Given the description of an element on the screen output the (x, y) to click on. 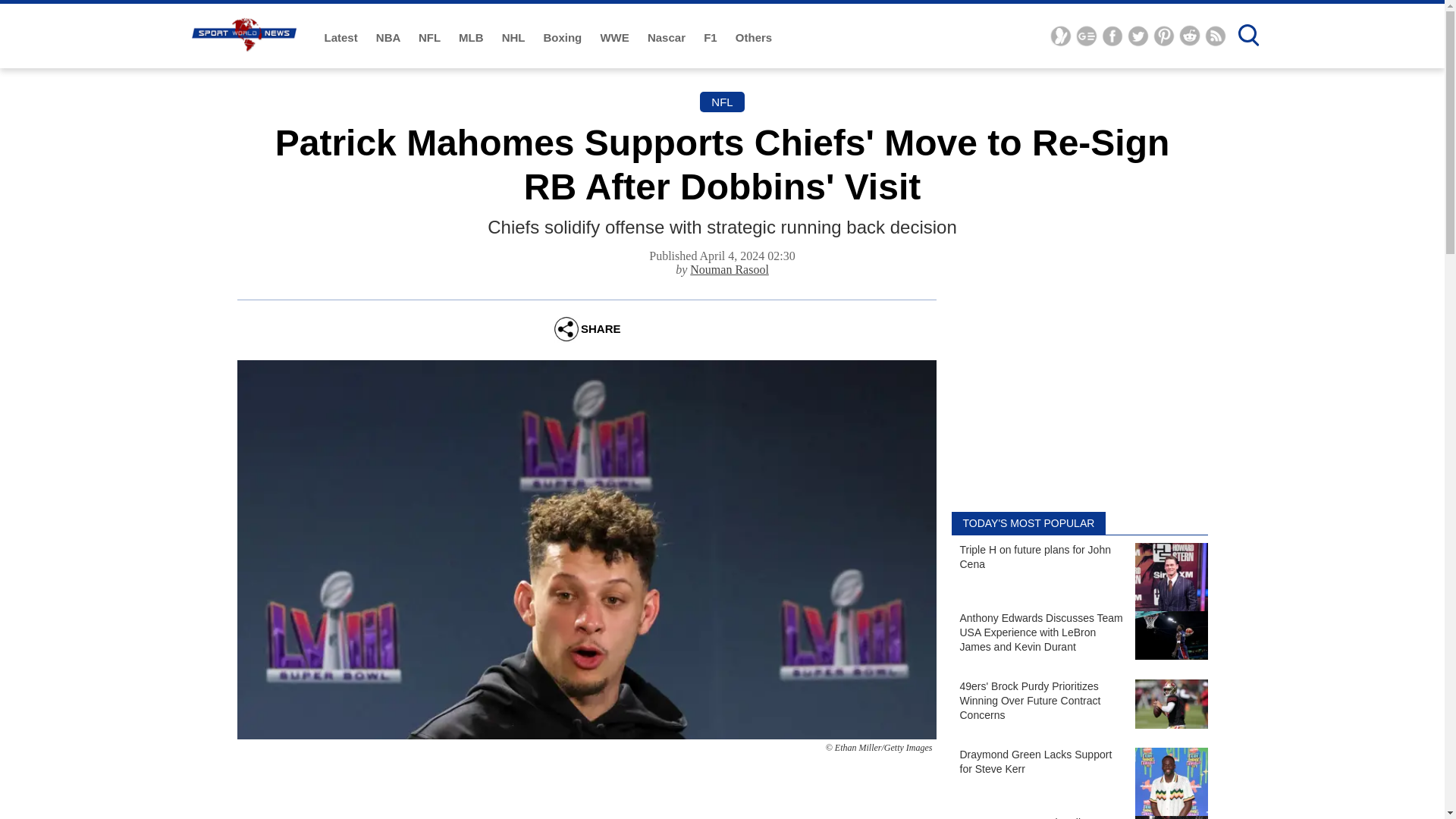
Latest (342, 37)
NBA (389, 37)
Nascar (667, 37)
NFL (431, 37)
F1 (711, 37)
Others (753, 37)
WWE (615, 37)
NHL (515, 37)
MLB (472, 37)
Boxing (564, 37)
